Given the description of an element on the screen output the (x, y) to click on. 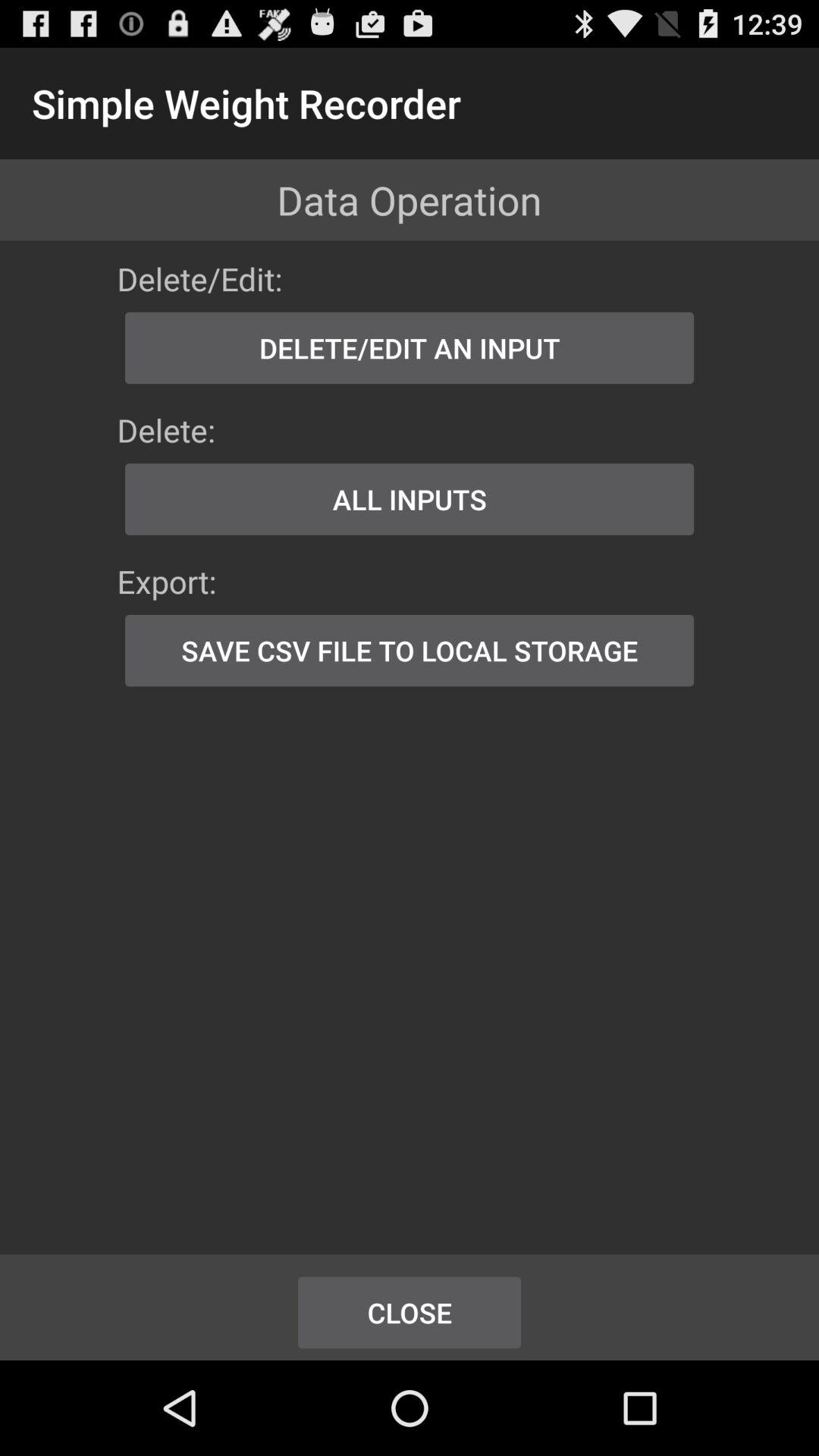
swipe until the all inputs (409, 499)
